Given the description of an element on the screen output the (x, y) to click on. 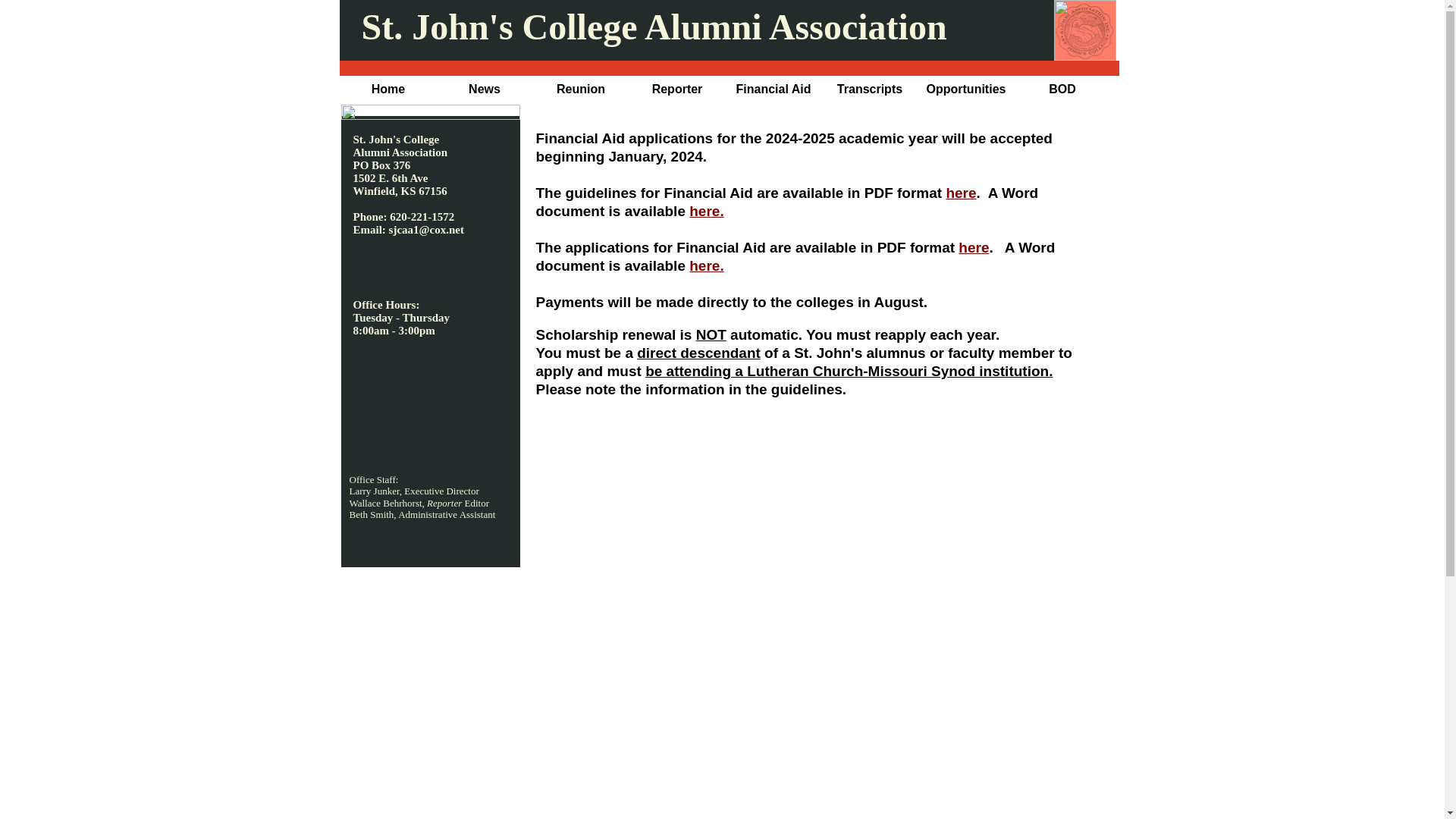
2024-2025 Financial Aid Guidelines Word (705, 211)
2024-25 Financial Aid Application PDF (973, 247)
2023-24 Guidelines PDF (959, 192)
here (959, 192)
here. (705, 265)
here (973, 247)
banner (727, 30)
2024-25 Financial Aid Application Word (705, 265)
here. (705, 211)
